Given the description of an element on the screen output the (x, y) to click on. 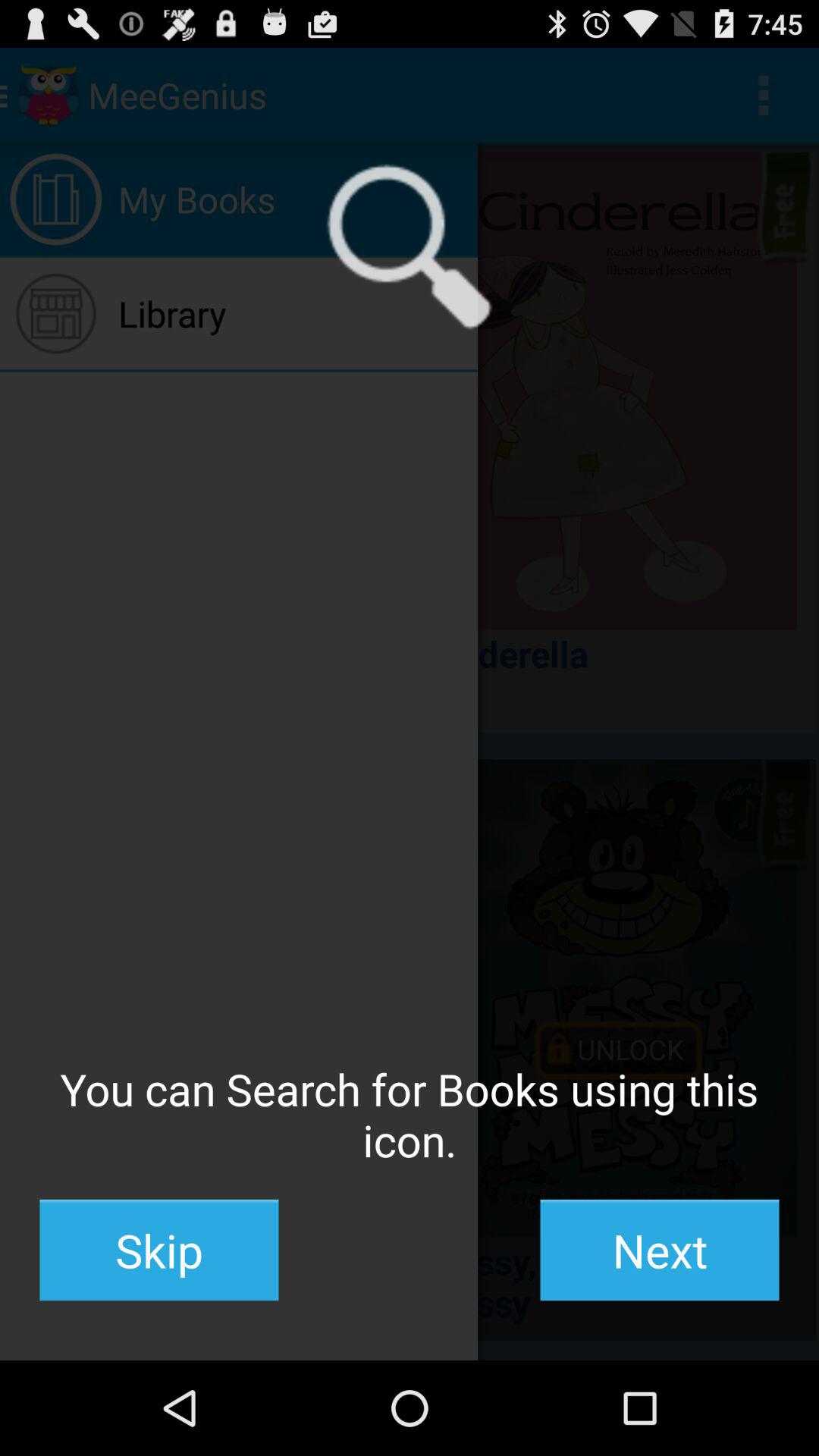
select the button next to the next button (158, 1249)
